Given the description of an element on the screen output the (x, y) to click on. 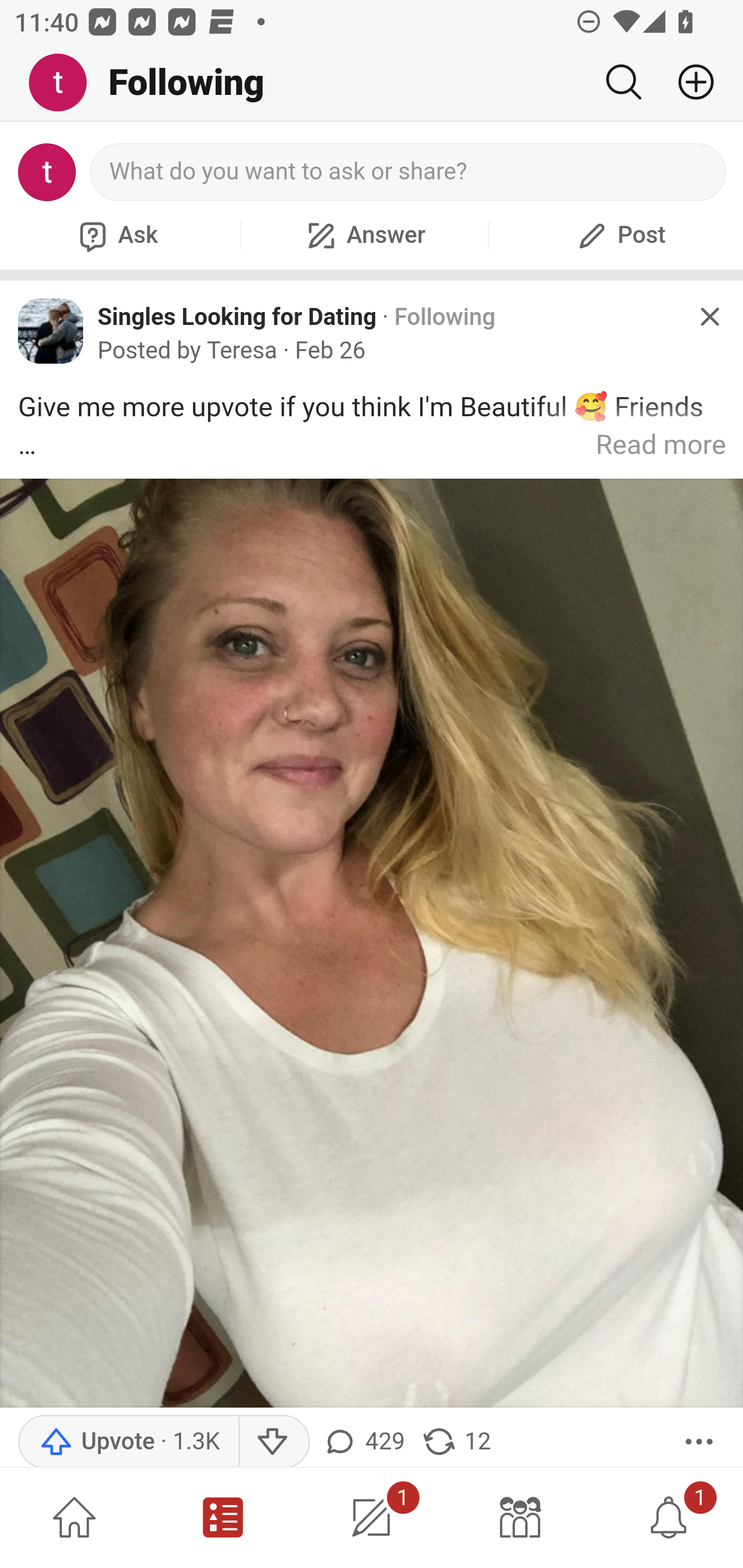
Me (64, 83)
Search (623, 82)
Add (688, 82)
What do you want to ask or share? (408, 172)
Ask (116, 234)
Answer (364, 234)
Post (618, 234)
Hide (709, 316)
Icon for Singles Looking for Dating (50, 330)
Singles Looking for Dating (237, 315)
Upvote (127, 1441)
Downvote (273, 1441)
429 comments (365, 1441)
12 shares (455, 1441)
More (699, 1441)
1 (371, 1517)
1 (668, 1517)
